Given the description of an element on the screen output the (x, y) to click on. 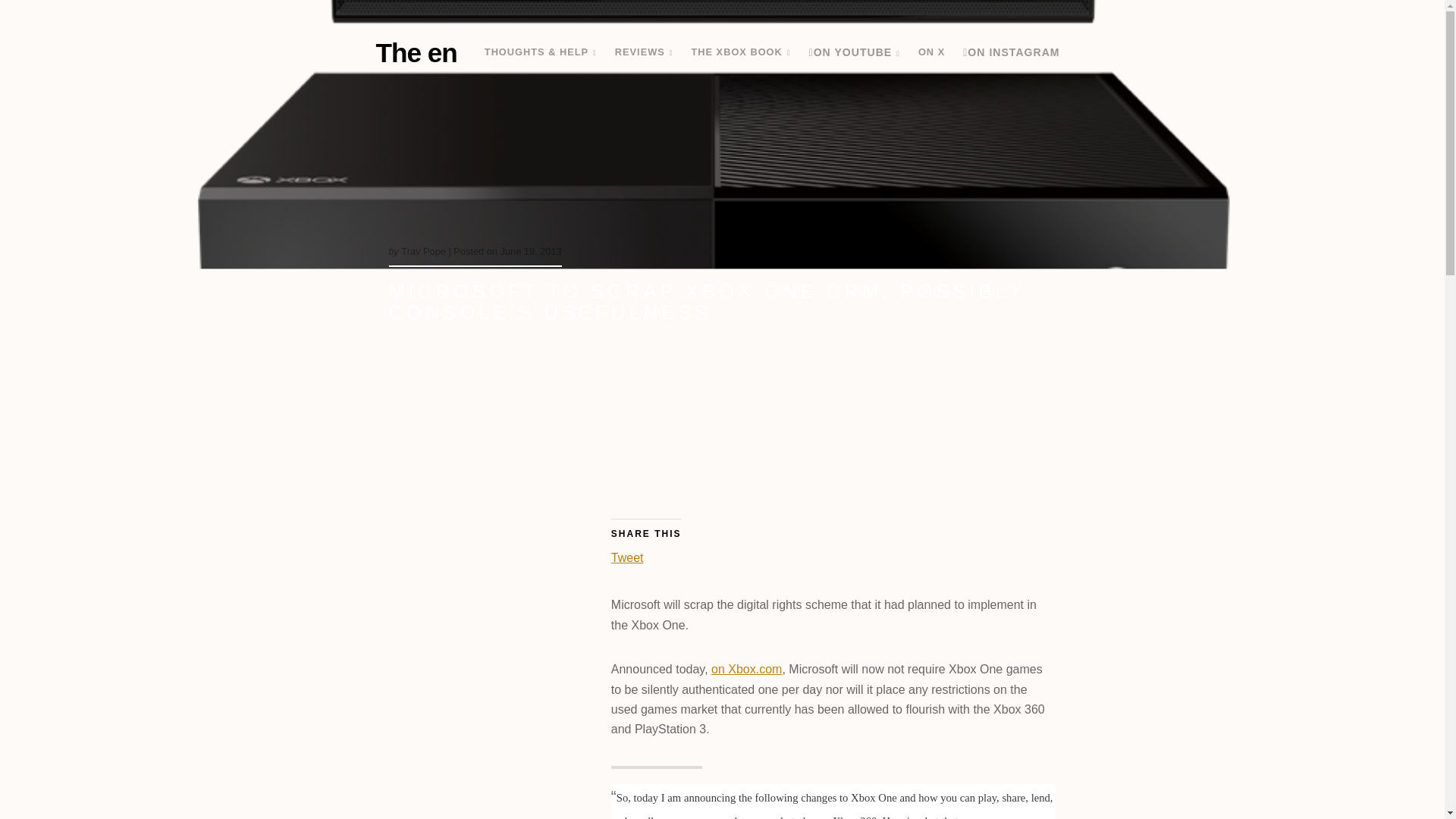
on Xbox.com (746, 668)
ON INSTAGRAM (1010, 51)
Tweet (627, 554)
ON YOUTUBE (853, 52)
REVIEWS (643, 52)
The en (416, 52)
ON X (930, 51)
THE XBOX BOOK (740, 52)
